Given the description of an element on the screen output the (x, y) to click on. 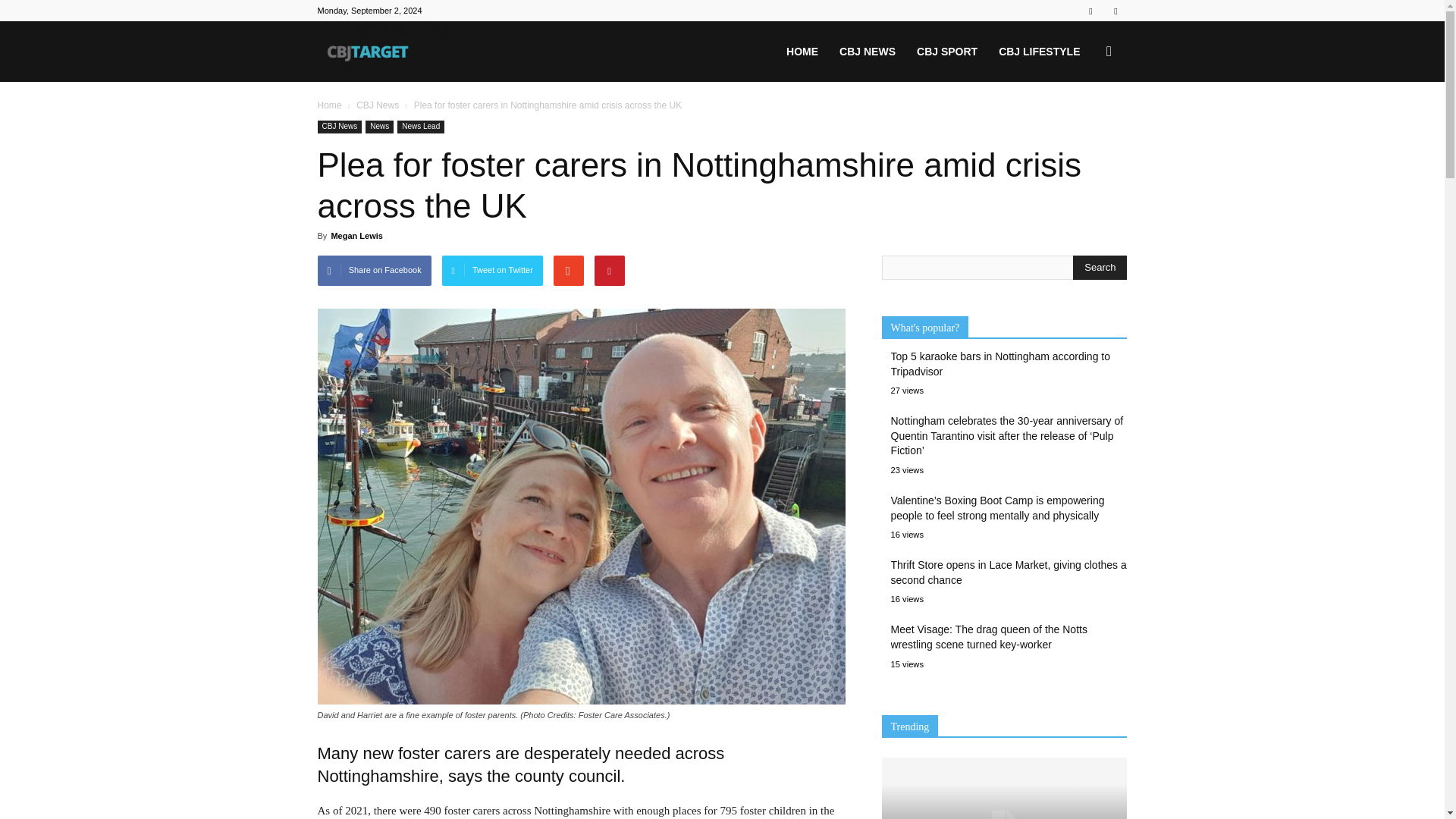
Megan Lewis (355, 235)
CBJ News (377, 104)
CBJ LIFESTYLE (1039, 51)
Twitter (1114, 10)
News (379, 126)
Search (1099, 267)
Home (328, 104)
CBJ NEWS (866, 51)
CBJ News (339, 126)
Nottingham Harmonic choir prepares for annual autumn concert (1003, 788)
